Given the description of an element on the screen output the (x, y) to click on. 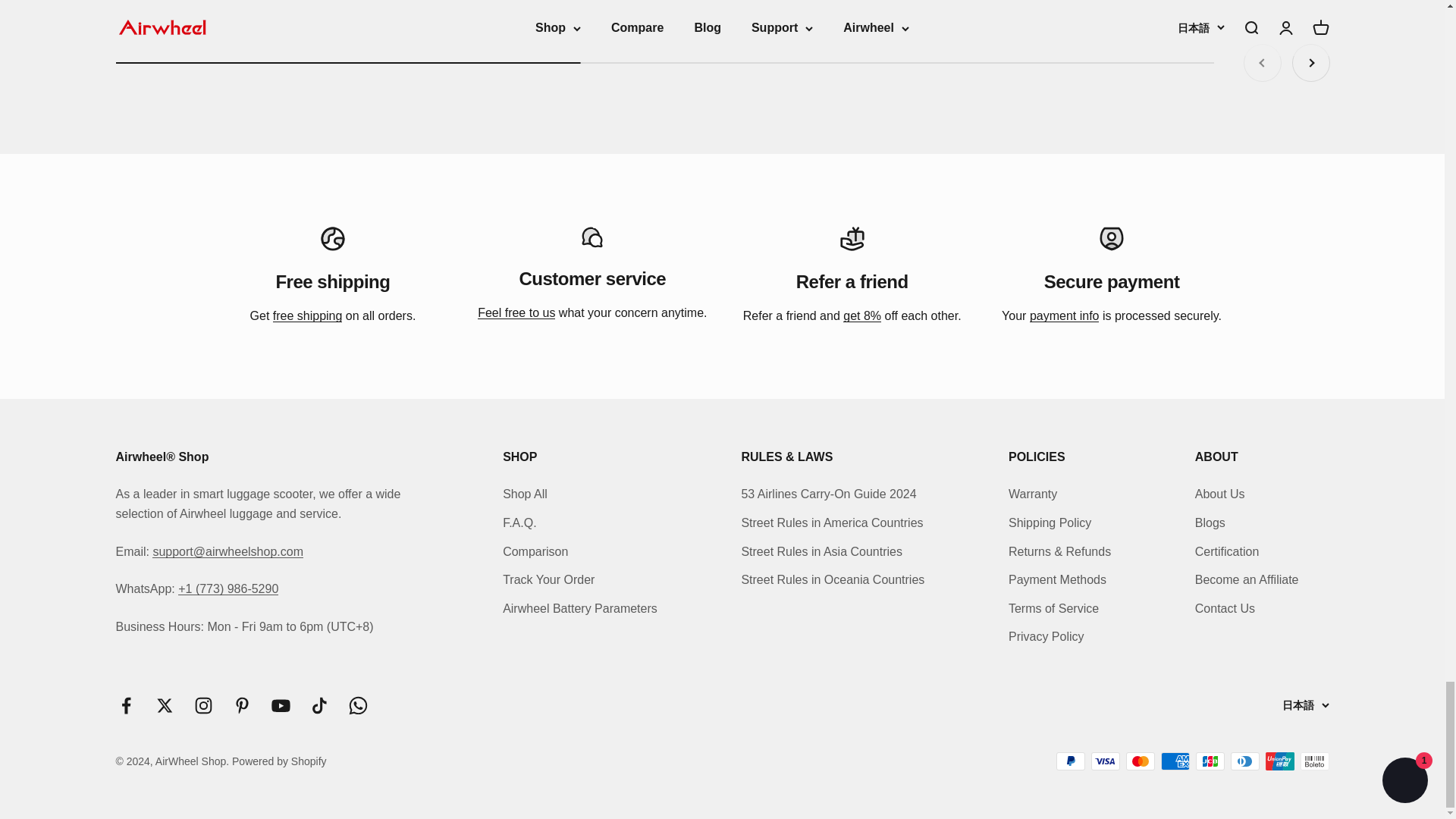
Contact Us (515, 312)
Become an Affiliate (861, 315)
Payment Methods (1064, 315)
Shipping Policy (307, 315)
